Given the description of an element on the screen output the (x, y) to click on. 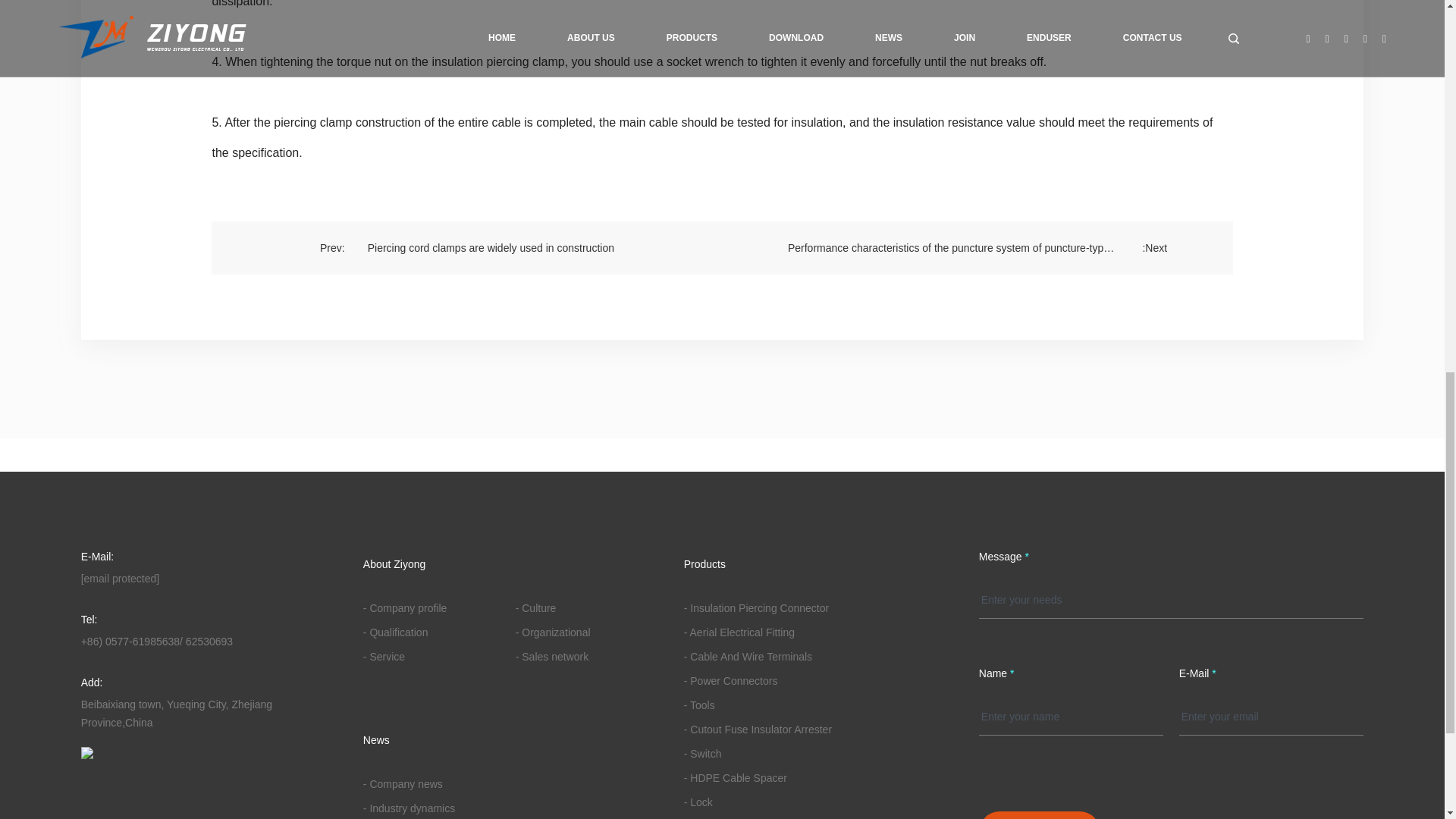
- Insulation Piercing Connector (756, 607)
Prev: Piercing cord clamps are widely used in construction (466, 247)
- Sales network (551, 656)
- Organizational (553, 632)
- Service (383, 656)
- Cable And Wire Terminals (748, 656)
Piercing cord clamps are widely used in construction (466, 247)
- Company news (402, 784)
- Culture (535, 607)
- Industry dynamics (408, 808)
- Qualification (395, 632)
- Aerial Electrical Fitting (739, 632)
- Company profile (404, 607)
